Given the description of an element on the screen output the (x, y) to click on. 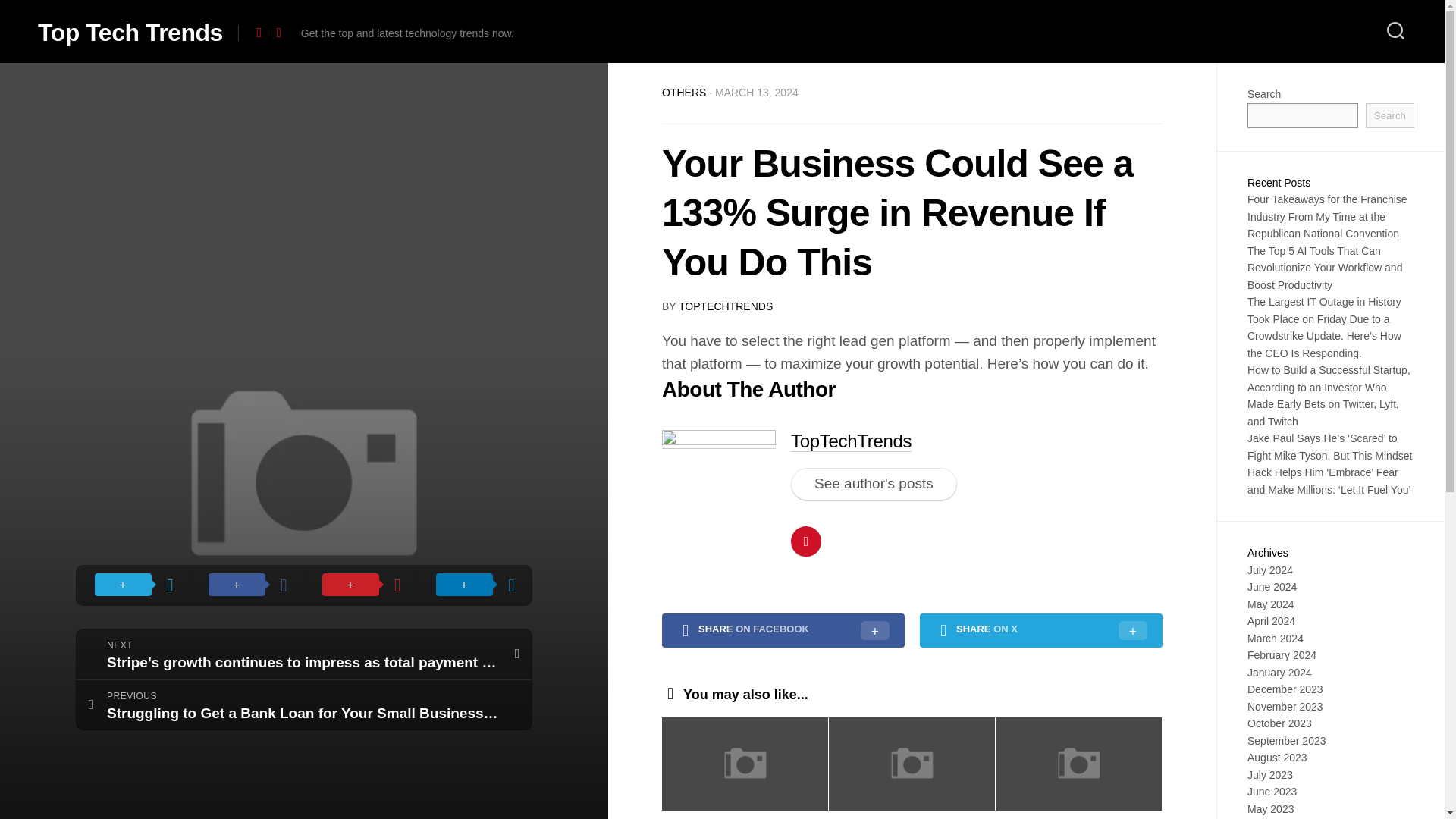
Posts by TopTechTrends (725, 306)
July 2024 (1269, 570)
TopTechTrends (850, 440)
Twitter (278, 32)
February 2024 (1281, 654)
May 2024 (1270, 603)
December 2023 (1285, 689)
Share on Facebook (247, 585)
SHARE ON FACEBOOK (783, 630)
November 2023 (1285, 706)
Search (1389, 115)
June 2024 (1272, 586)
OTHERS (684, 92)
